Given the description of an element on the screen output the (x, y) to click on. 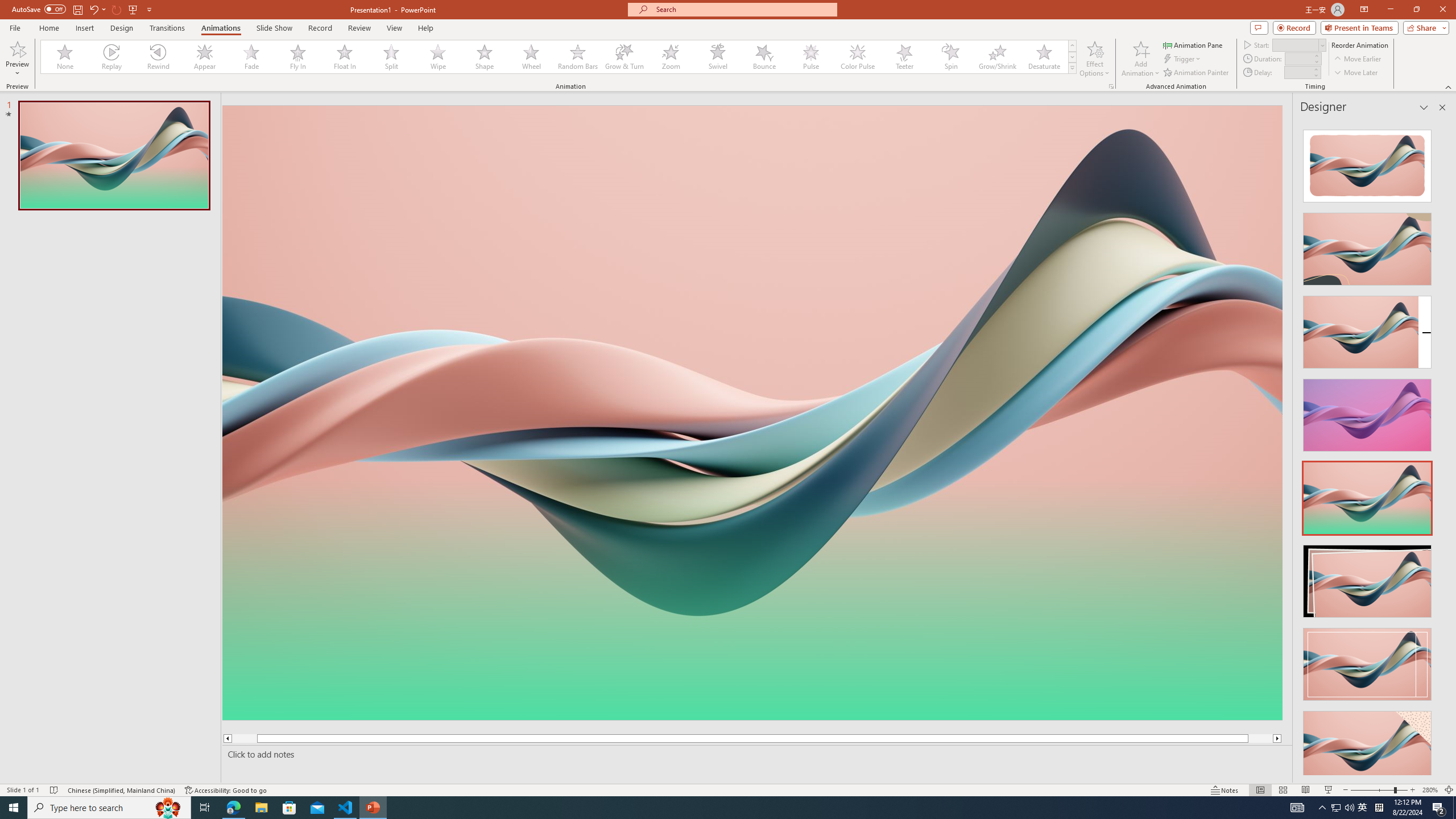
Fly In (298, 56)
Animation Styles (1071, 67)
Grow & Turn (624, 56)
Animation Duration (1298, 58)
Appear (205, 56)
Trigger (1182, 58)
